Given the description of an element on the screen output the (x, y) to click on. 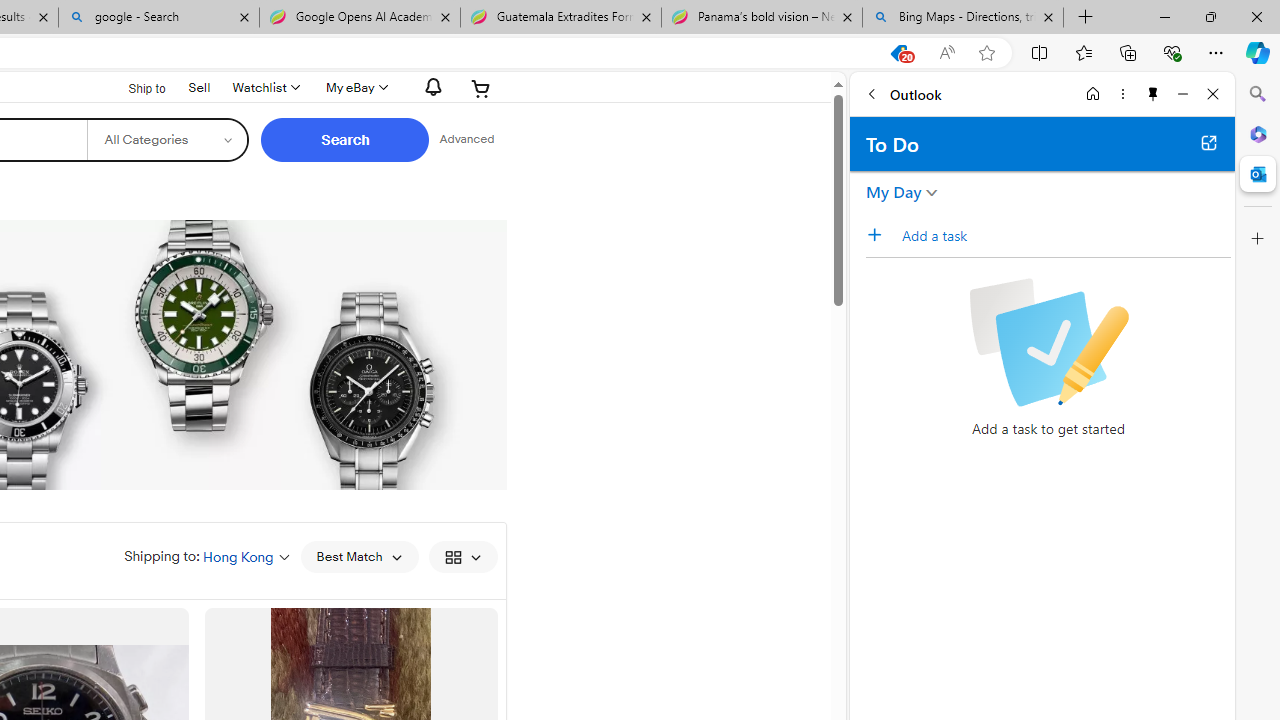
AutomationID: gh-eb-Alerts (430, 87)
Your shopping cart (481, 88)
Sort: Best Match (358, 556)
WatchlistExpand Watch List (264, 88)
Shipping to: Hong Kong (207, 556)
Advanced Search (466, 139)
My eBayExpand My eBay (354, 88)
